Given the description of an element on the screen output the (x, y) to click on. 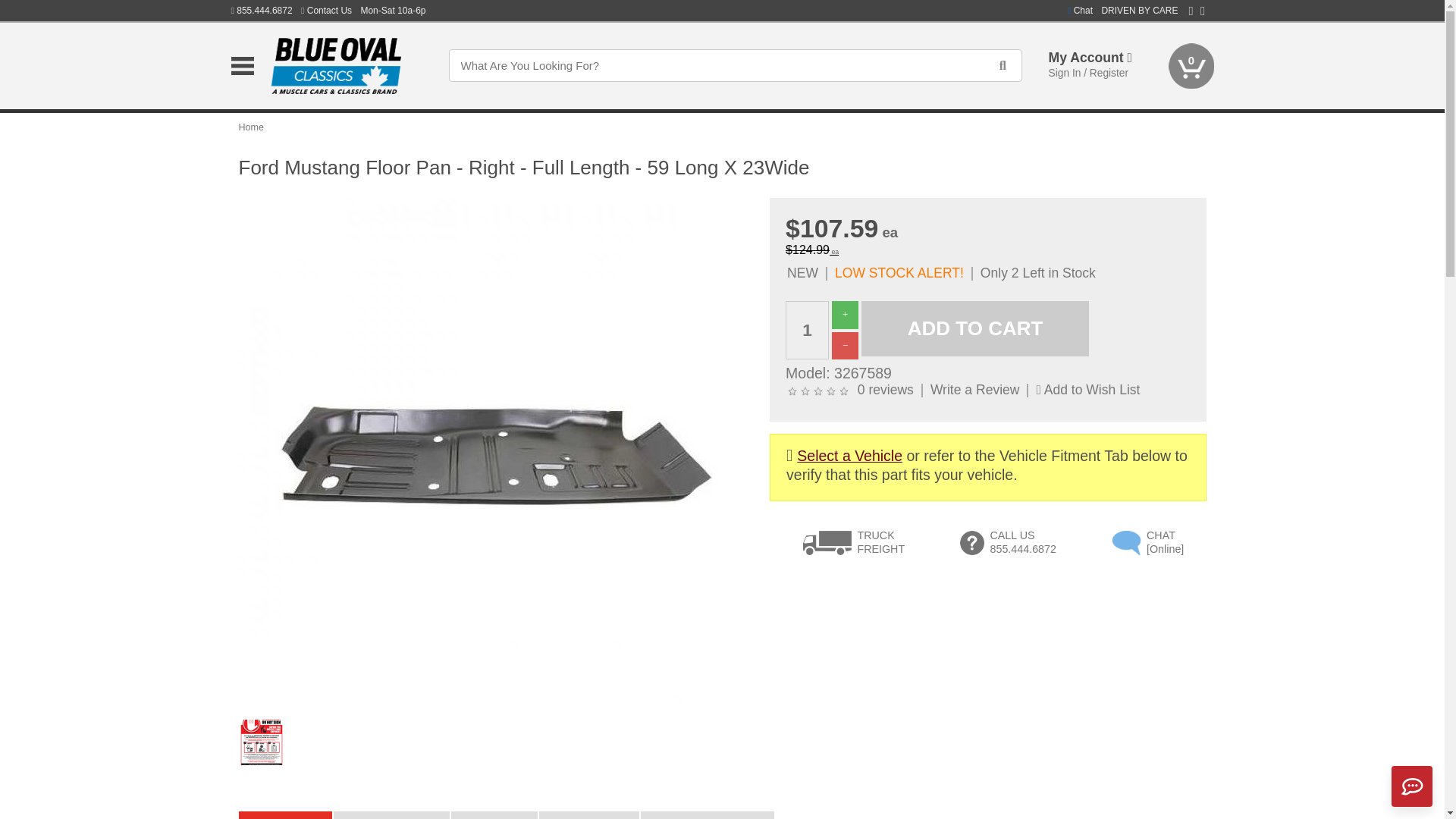
Add to Cart (975, 328)
Blue Oval Classics (345, 65)
